Given the description of an element on the screen output the (x, y) to click on. 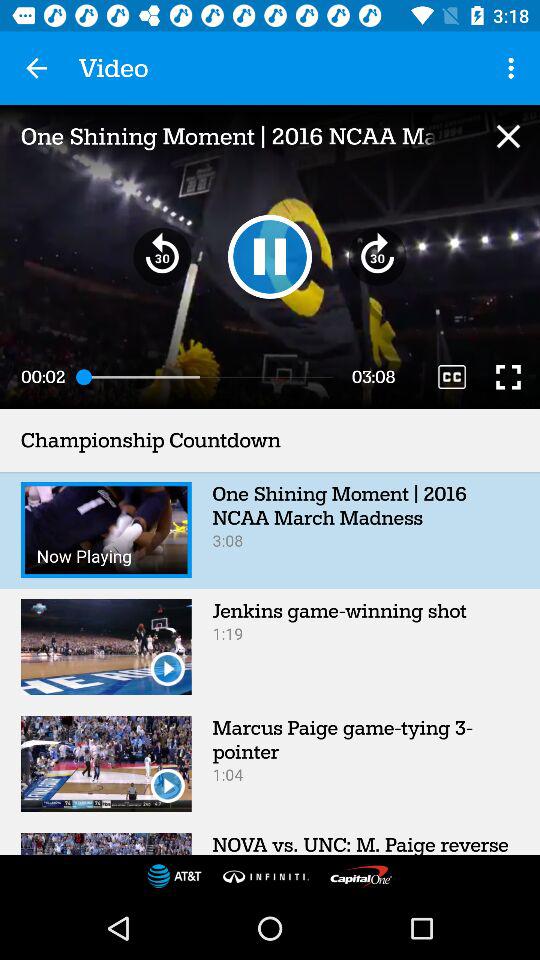
choose the icon below the one shining moment item (451, 376)
